Given the description of an element on the screen output the (x, y) to click on. 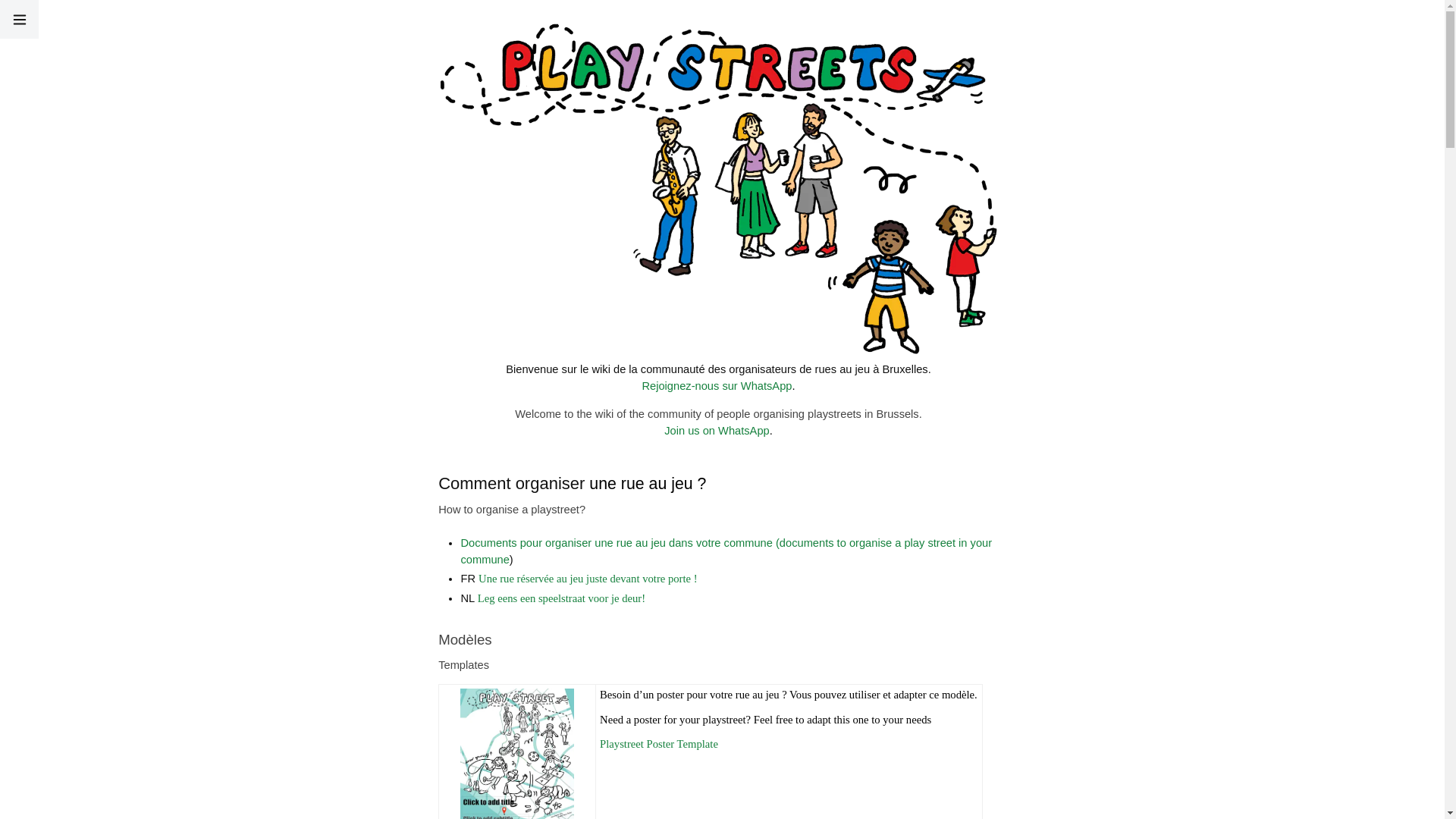
Rejoignez-nous sur WhatsApp Element type: text (716, 385)
Leg eens een speelstraat voor je deur! Element type: text (561, 598)
Playstreet Poster Template Element type: text (658, 743)
Join us on WhatsApp Element type: text (716, 430)
